Given the description of an element on the screen output the (x, y) to click on. 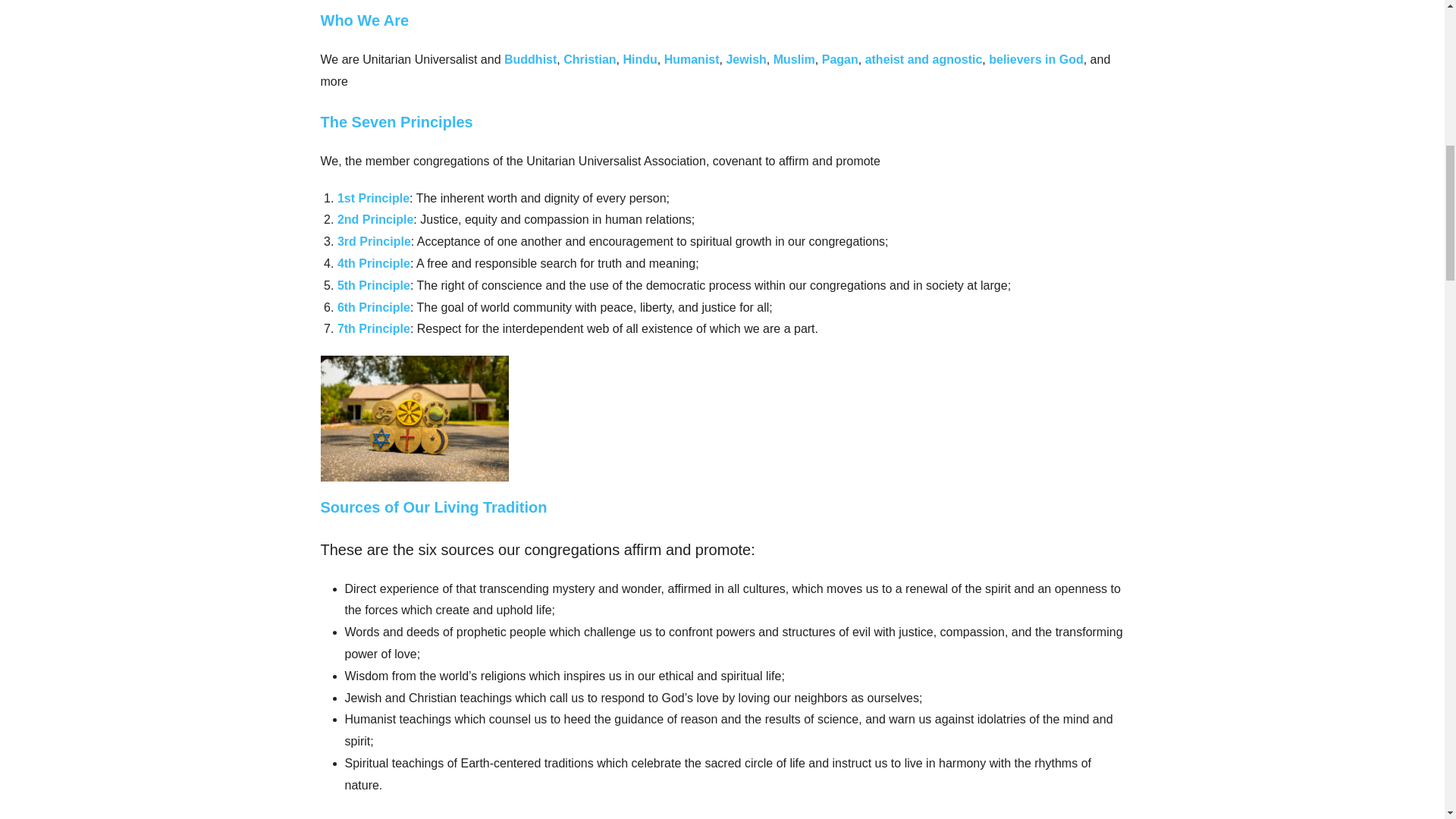
believers in God (1035, 59)
Christian (589, 59)
Jewish (745, 59)
Who We Are (364, 20)
Hindu (639, 59)
5th Principle (373, 285)
4th Principle (373, 263)
7th Principle (373, 328)
Sources of Our Living Tradition (433, 506)
Buddhist (529, 59)
